Given the description of an element on the screen output the (x, y) to click on. 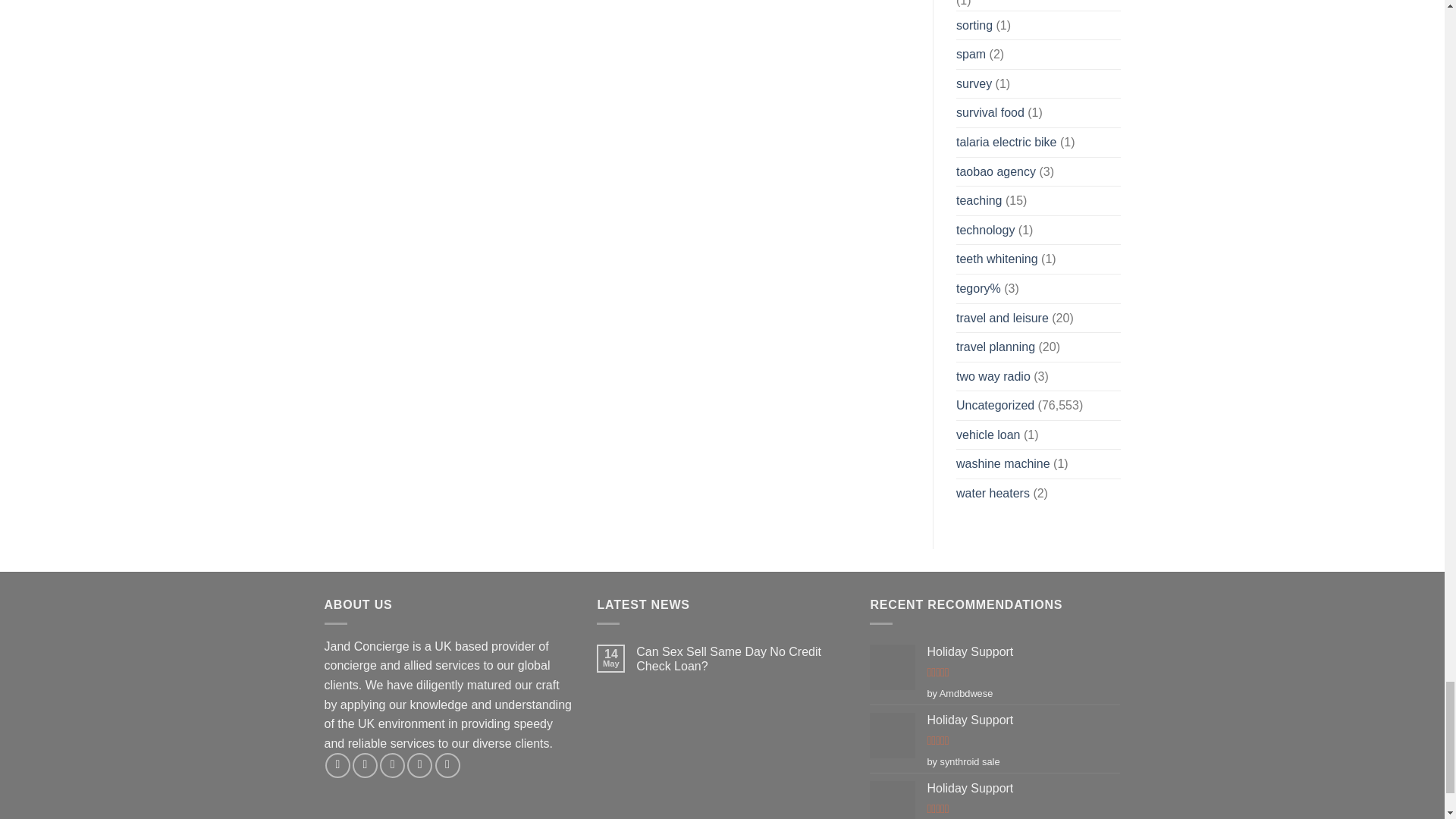
Can Sex Sell Same Day No Credit Check Loan? (741, 658)
